Given the description of an element on the screen output the (x, y) to click on. 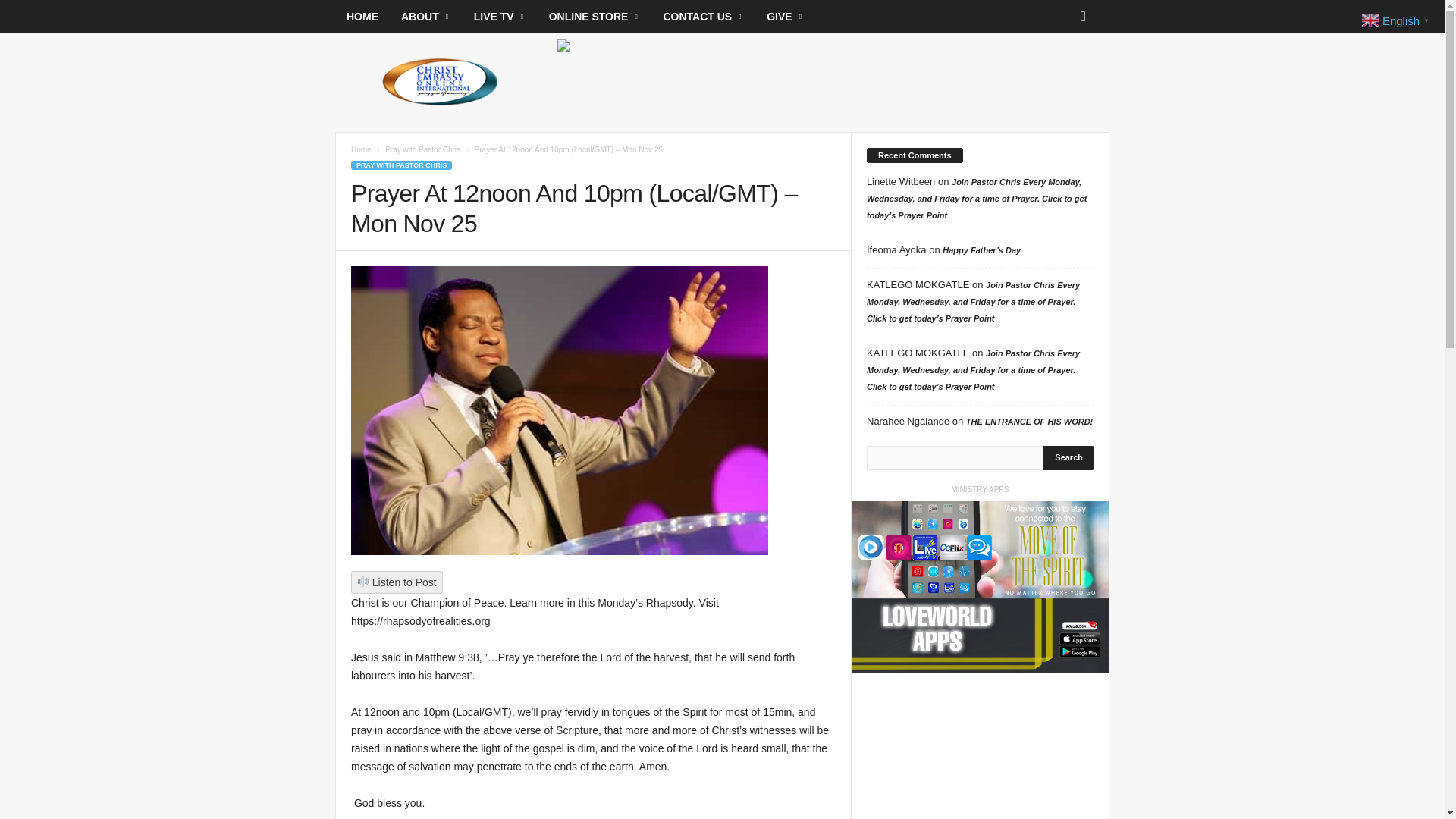
ABOUT (426, 16)
CONTACT US (702, 16)
ONLINE STORE (594, 16)
LIVE TV (500, 16)
Search (1068, 457)
View all posts in Pray with Pastor Chris (422, 149)
pastorchrisprayerpostpix1-min (559, 410)
HOME (362, 16)
